Given the description of an element on the screen output the (x, y) to click on. 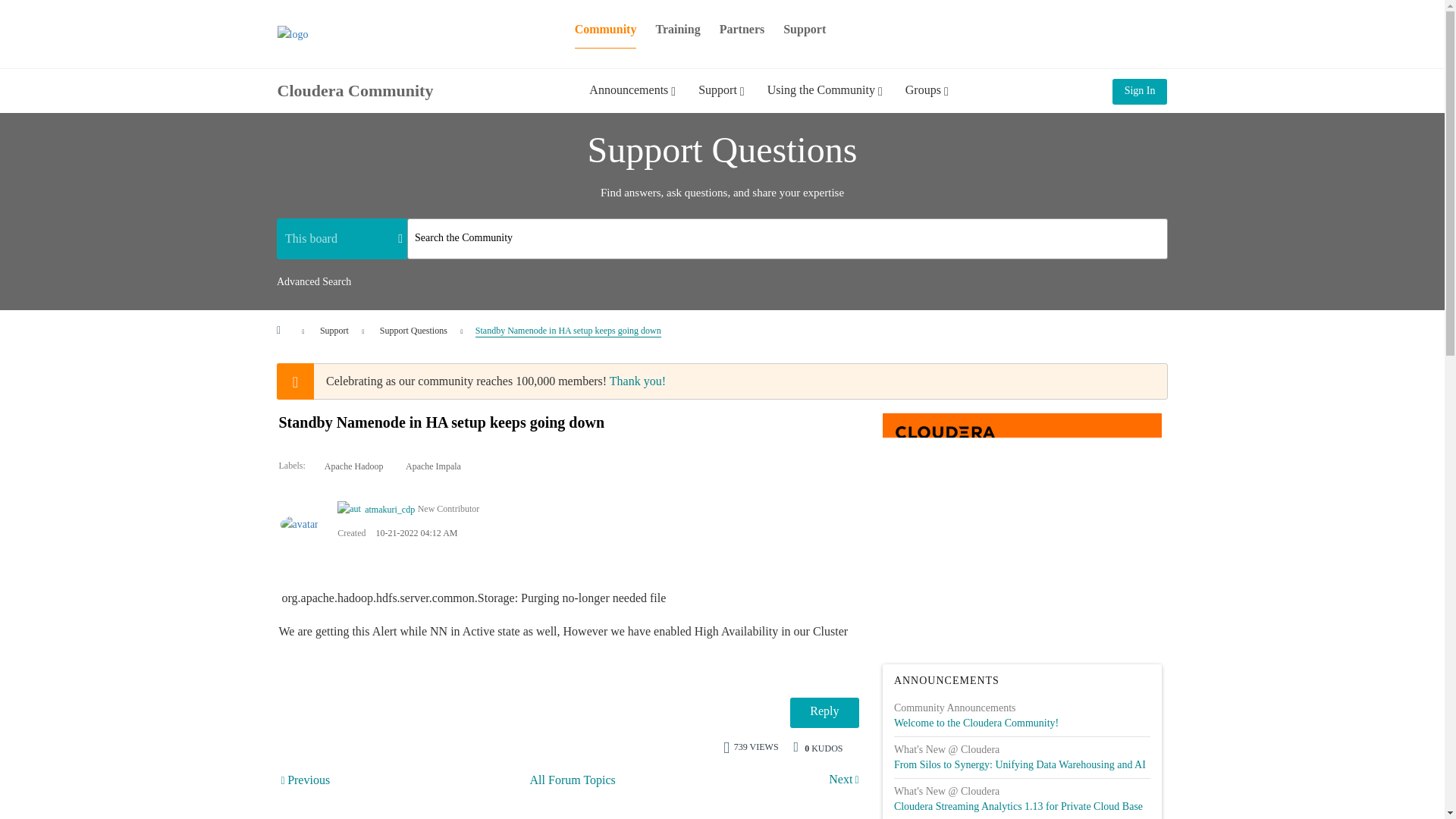
Training (677, 29)
Support Questions (412, 330)
Announcements (632, 100)
Community (606, 29)
Support Questions (572, 780)
Thank you! (637, 380)
Partners (742, 29)
Search Granularity (342, 237)
Support (333, 330)
Support (804, 29)
